Given the description of an element on the screen output the (x, y) to click on. 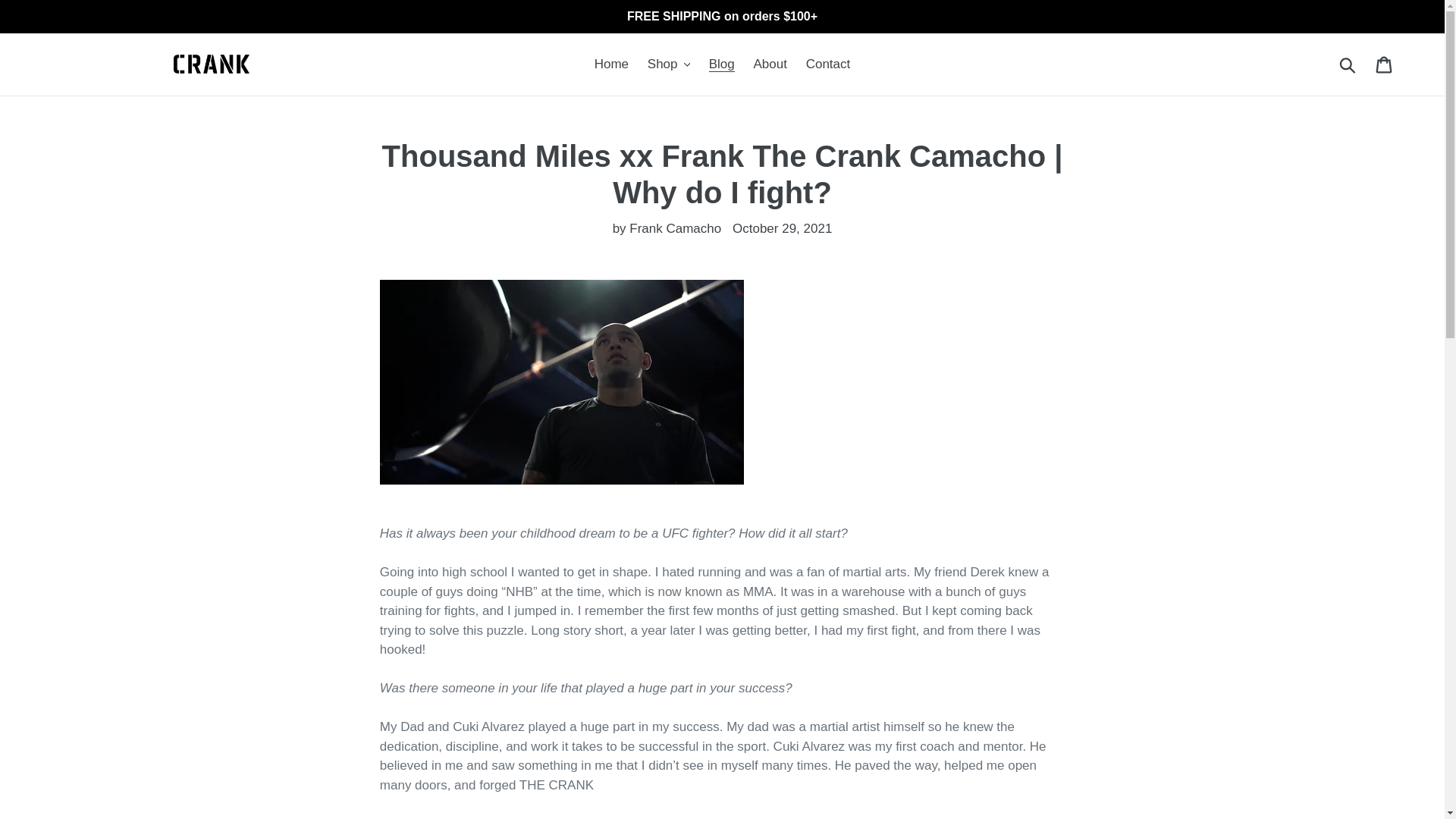
Cart (1385, 63)
About (769, 64)
Contact (828, 64)
Submit (1348, 64)
Blog (721, 64)
Home (611, 64)
